Given the description of an element on the screen output the (x, y) to click on. 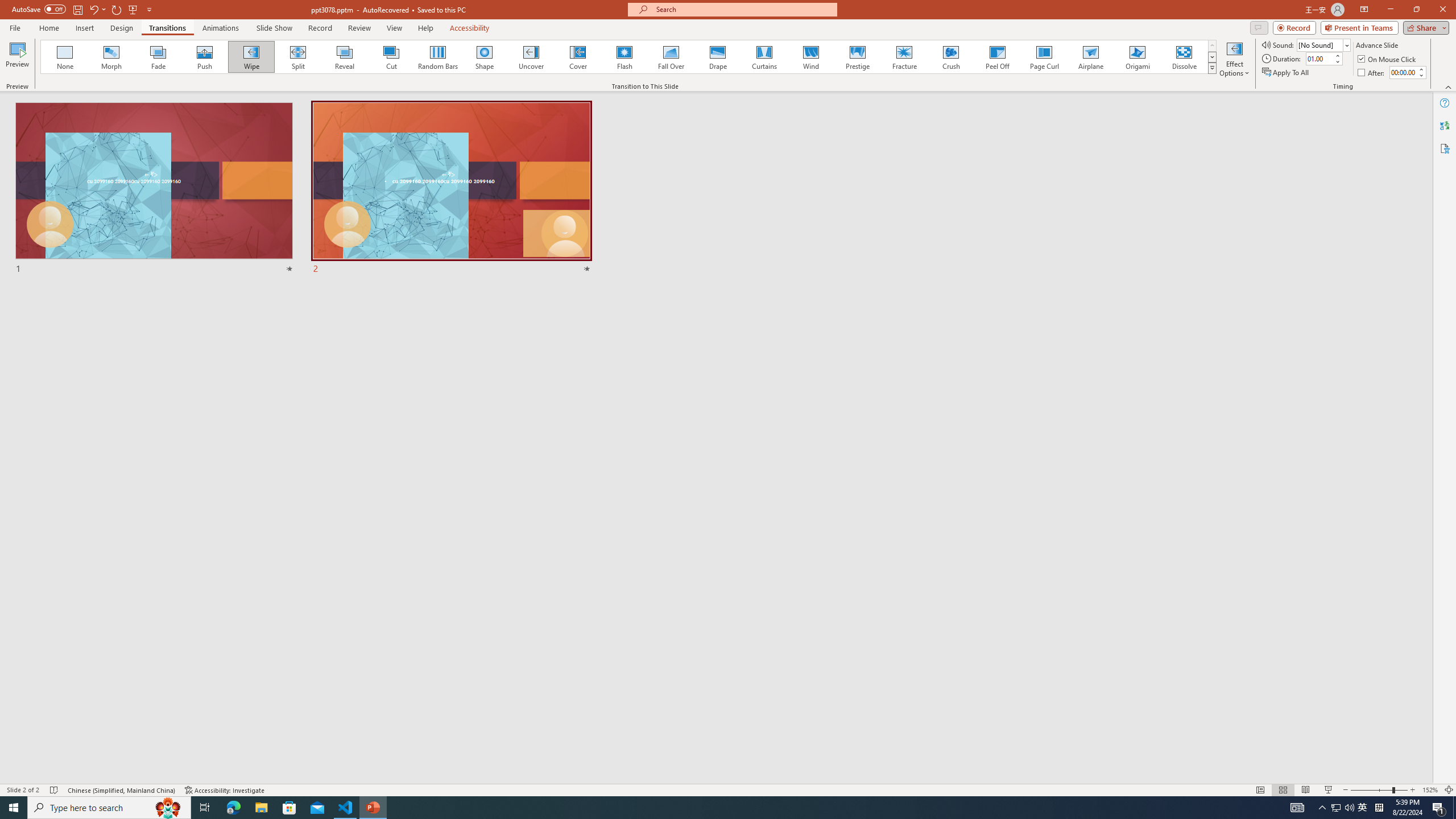
Morph (111, 56)
Fracture (903, 56)
Airplane (1090, 56)
Push (205, 56)
